Given the description of an element on the screen output the (x, y) to click on. 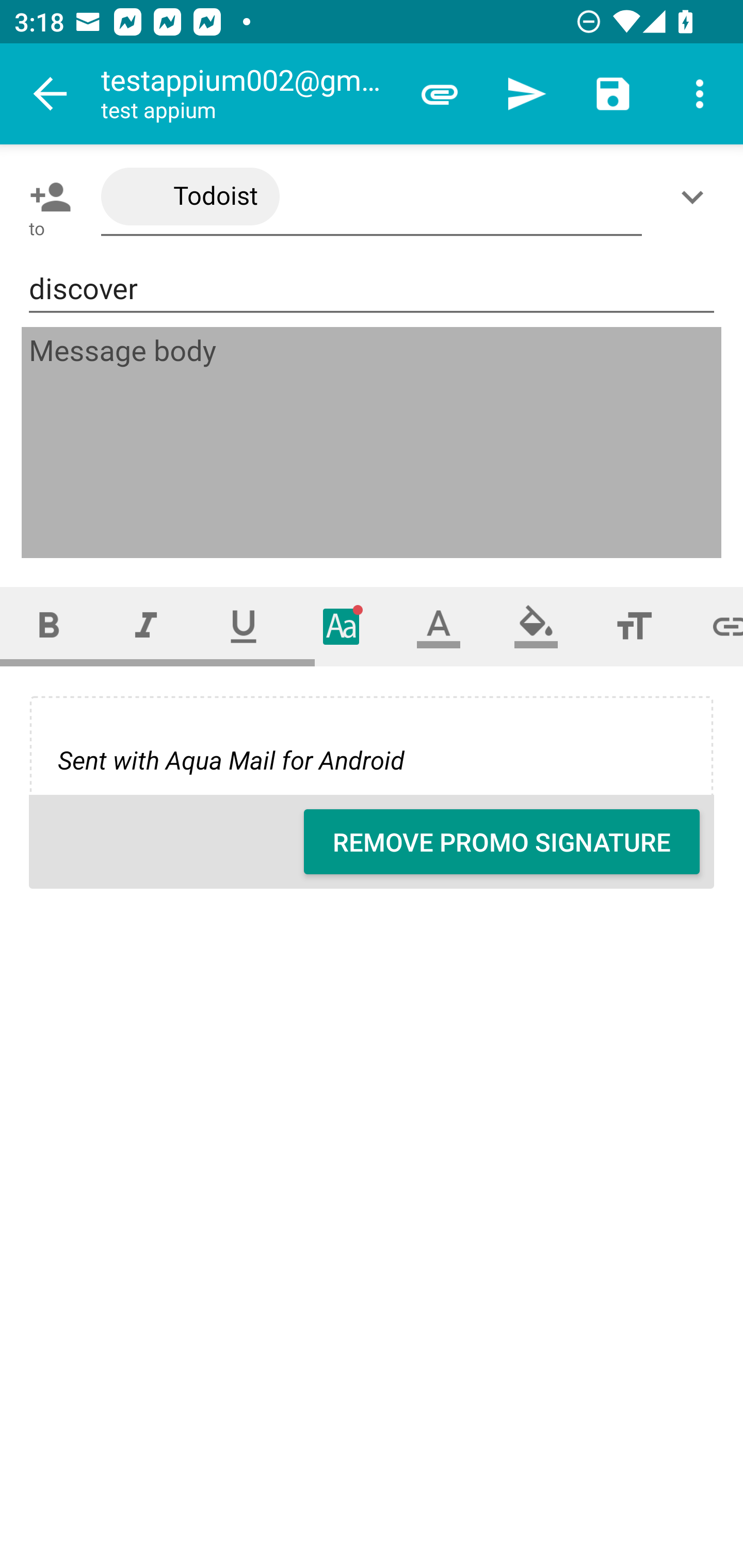
Navigate up (50, 93)
testappium002@gmail.com test appium (248, 93)
Attach (439, 93)
Send (525, 93)
Save (612, 93)
More options (699, 93)
Todoist <no-reply@todoist.com>,  (371, 197)
Pick contact: To (46, 196)
Show/Add CC/BCC (696, 196)
discover (371, 288)
Message body (372, 442)
Bold (48, 626)
Italic (145, 626)
Underline (243, 626)
Typeface (font) (341, 626)
Text color (438, 626)
Fill color (536, 626)
Font size (633, 626)
REMOVE PROMO SIGNATURE (501, 841)
